Given the description of an element on the screen output the (x, y) to click on. 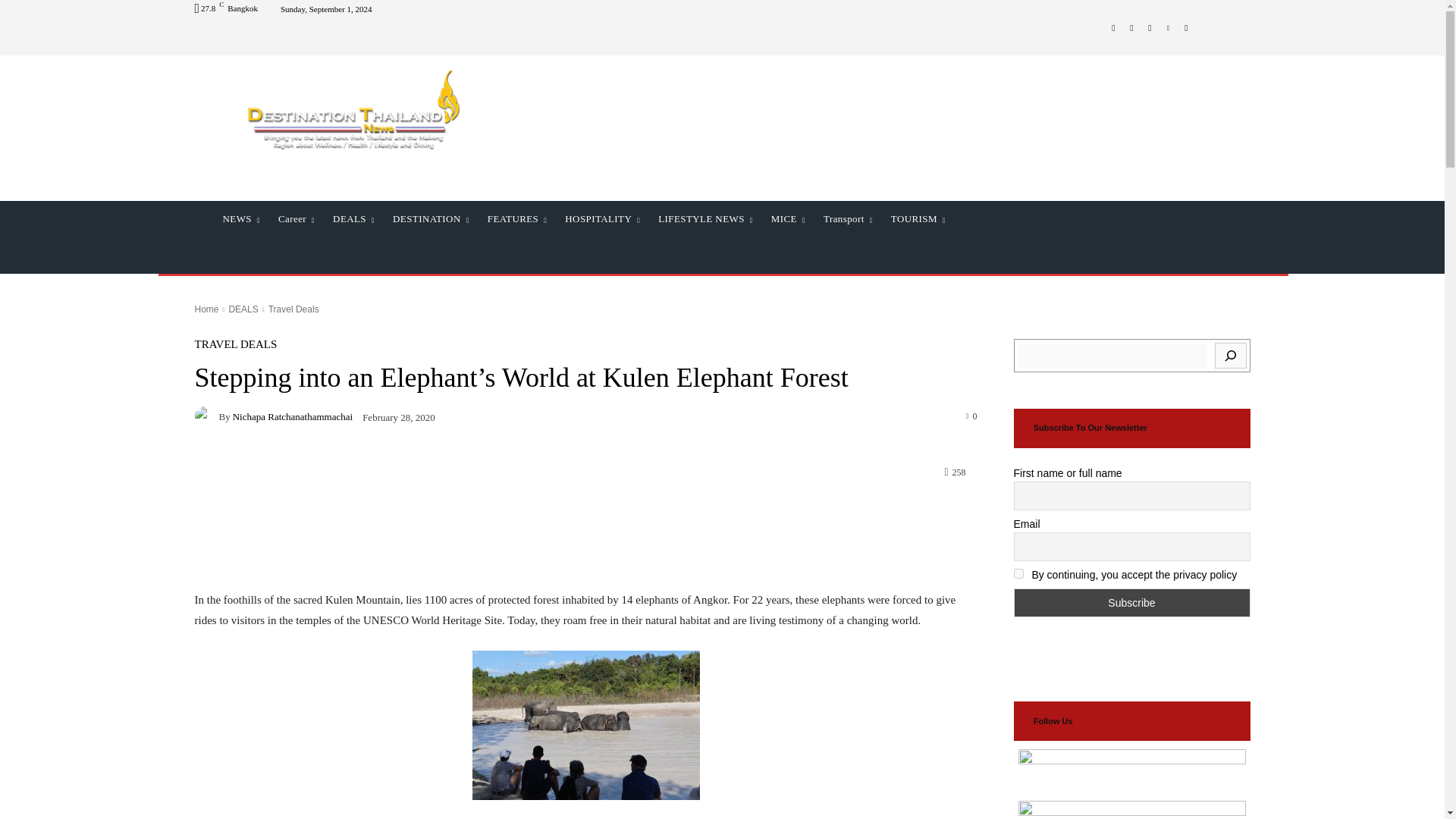
Twitter (1149, 27)
Instagram (1131, 27)
Nichapa Ratchanathammachai (205, 415)
View all posts in Travel Deals (292, 308)
Subscribe (1131, 602)
View all posts in DEALS (242, 308)
Facebook (1112, 27)
Vimeo (1167, 27)
on (1018, 573)
Youtube (1185, 27)
